Given the description of an element on the screen output the (x, y) to click on. 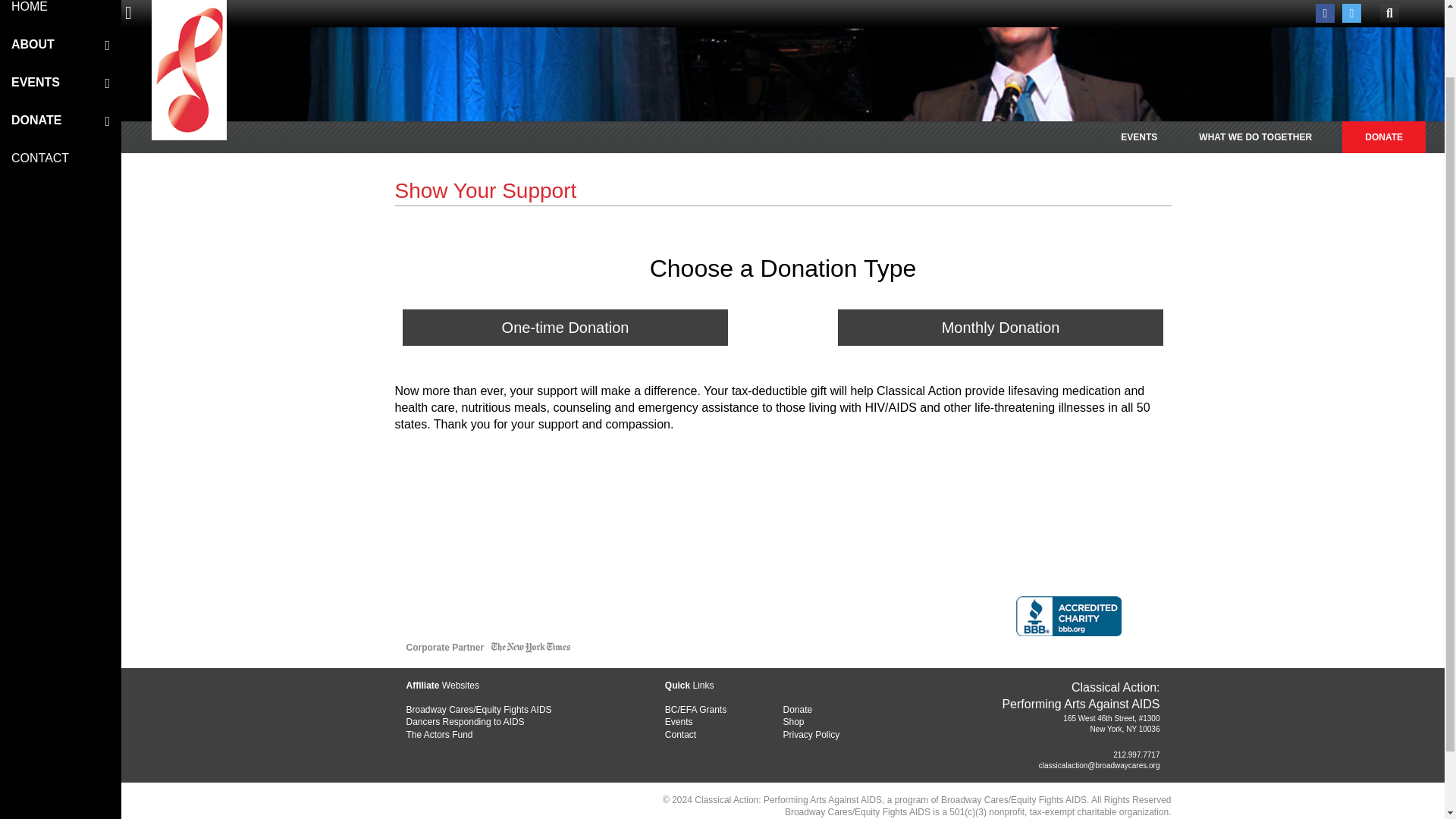
Classical Action (189, 29)
Donate (842, 709)
HOME (60, 12)
DONATE (1383, 137)
Events (724, 721)
One-time Donation (566, 327)
ABOUT (52, 44)
DONATE (52, 120)
Dancers Responding to AIDS (524, 721)
NY Times (531, 649)
